Given the description of an element on the screen output the (x, y) to click on. 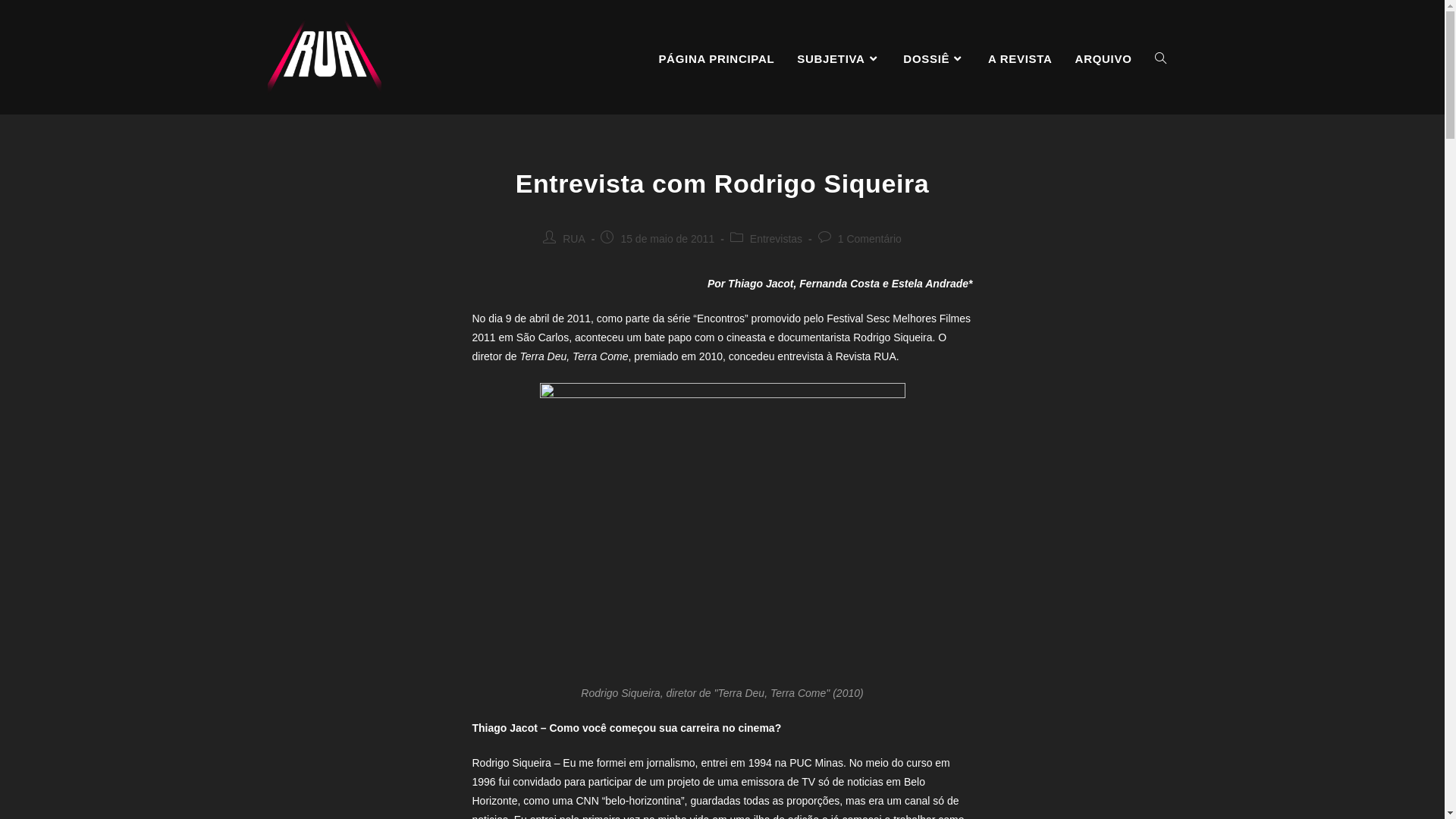
Entrevistas Element type: text (775, 238)
RUA Element type: text (573, 238)
A REVISTA Element type: text (1019, 59)
ARQUIVO Element type: text (1103, 59)
Rodrigo Siqueira Element type: hover (722, 533)
SUBJETIVA Element type: text (838, 59)
